Given the description of an element on the screen output the (x, y) to click on. 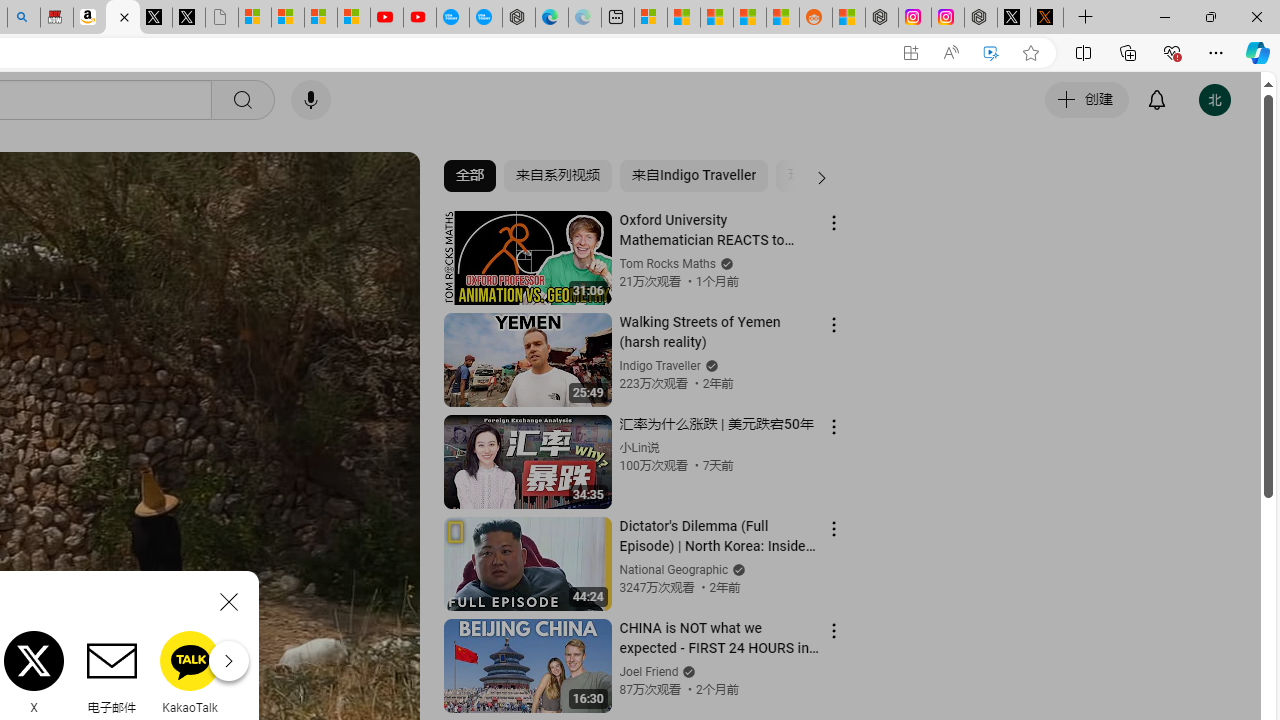
KakaoTalk (189, 672)
